Given the description of an element on the screen output the (x, y) to click on. 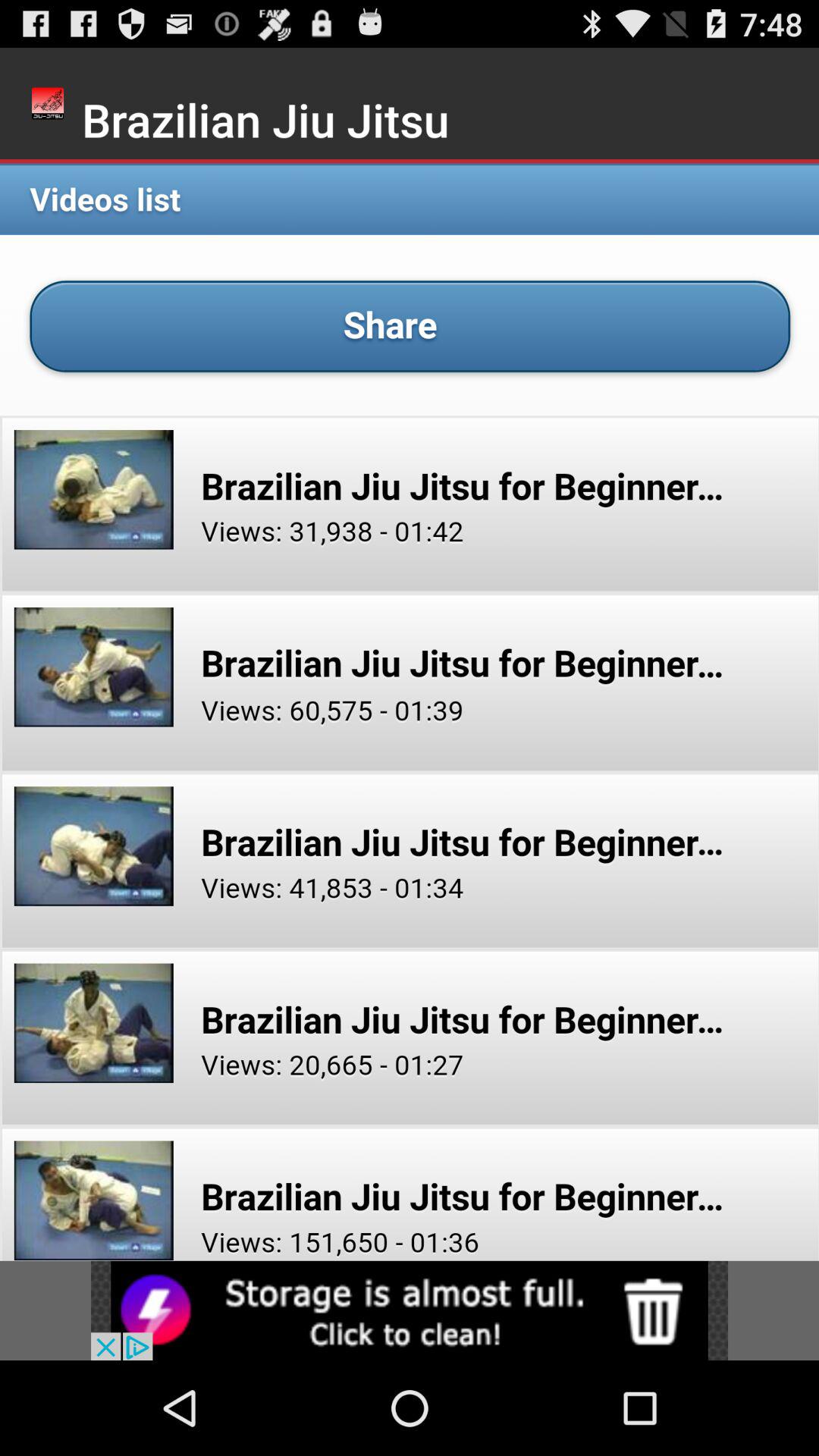
advertisements (409, 1310)
